Given the description of an element on the screen output the (x, y) to click on. 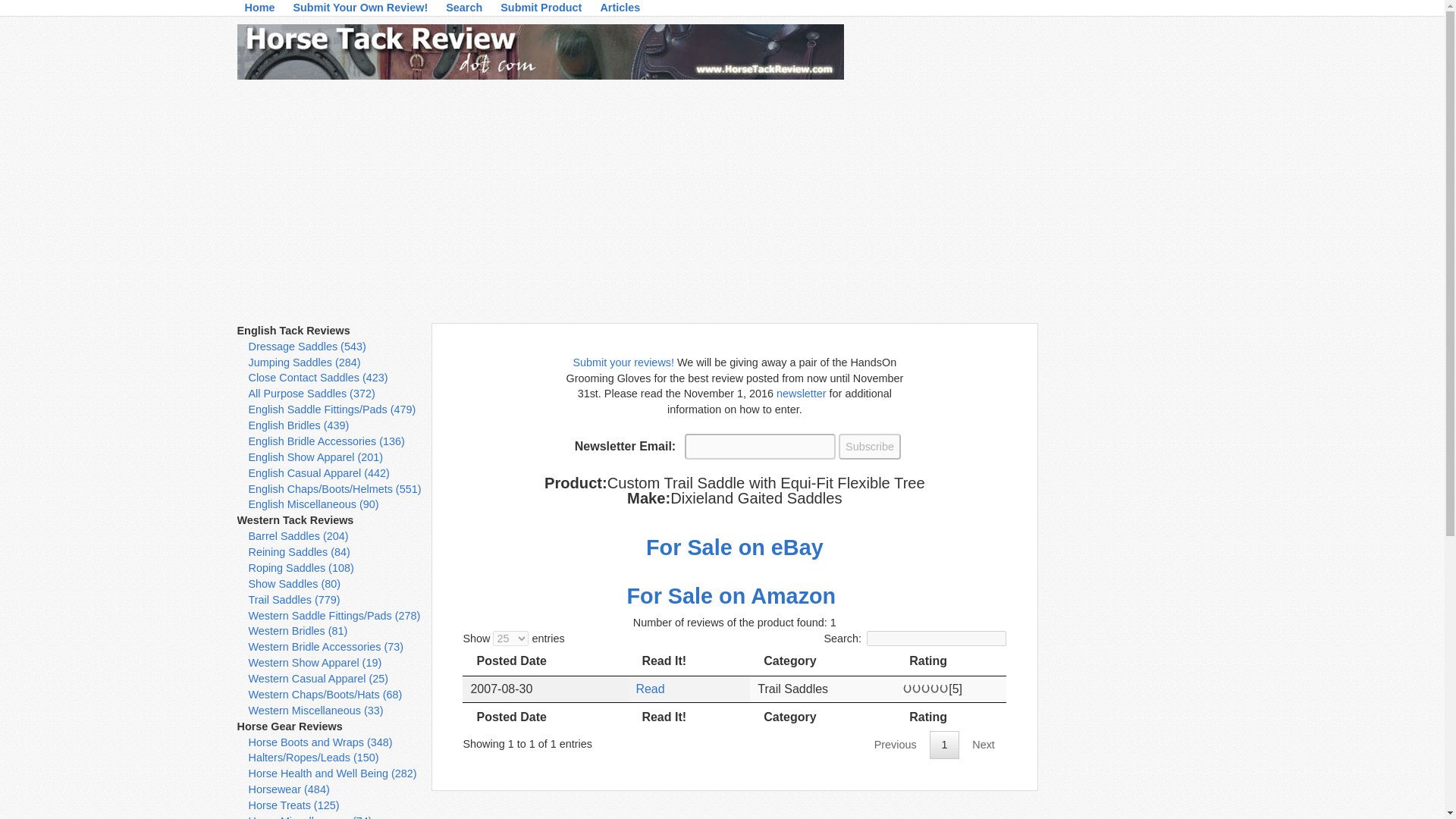
Home (258, 10)
Search (463, 10)
Advertisement (1130, 550)
Articles (619, 10)
Subscribe (869, 446)
Submit Product (541, 10)
Submit Your Own Review! (360, 10)
